Given the description of an element on the screen output the (x, y) to click on. 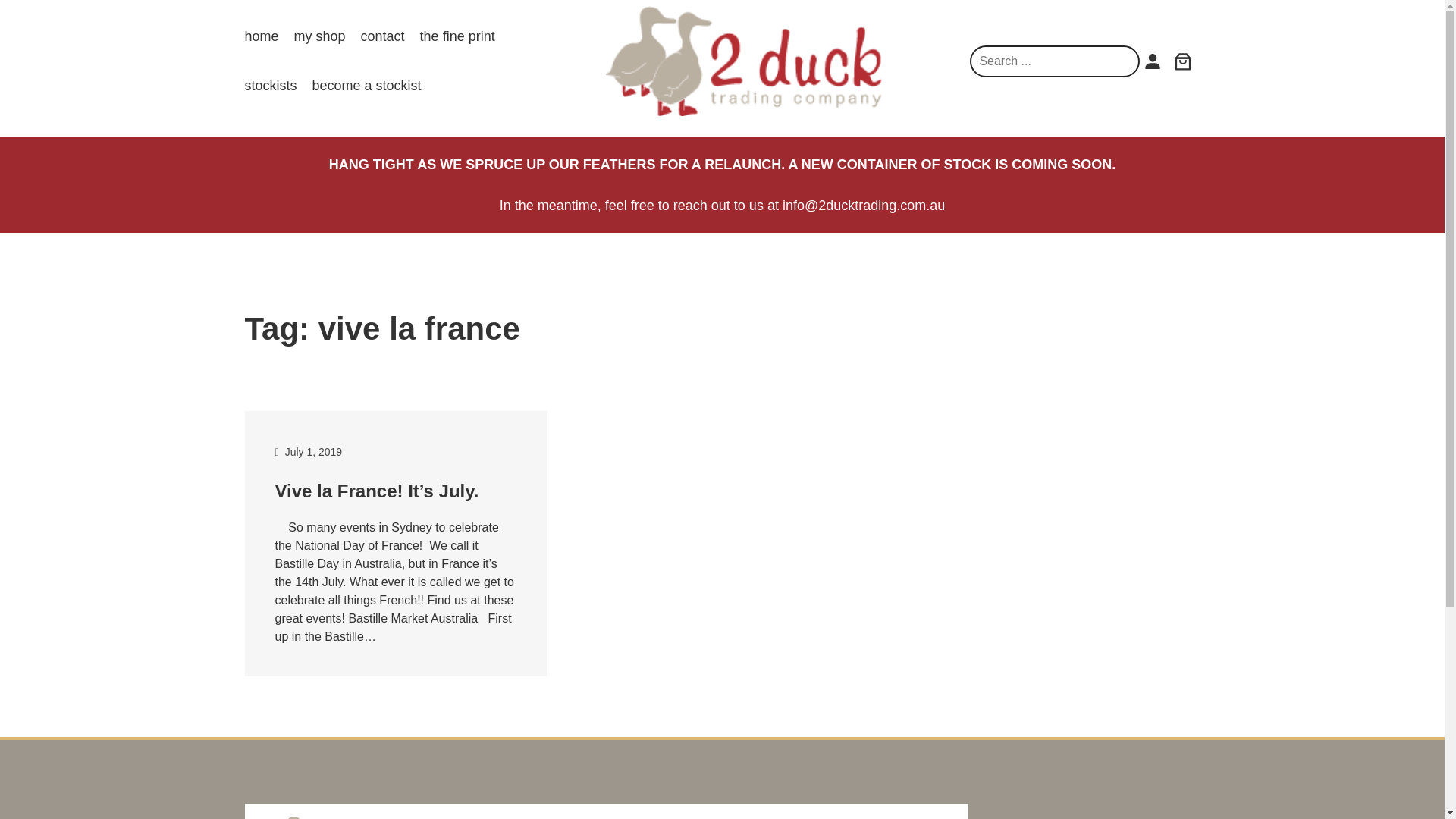
my shop (320, 36)
the fine print (457, 36)
become a stockist (367, 85)
home (261, 36)
stockists (270, 85)
contact (382, 36)
